Given the description of an element on the screen output the (x, y) to click on. 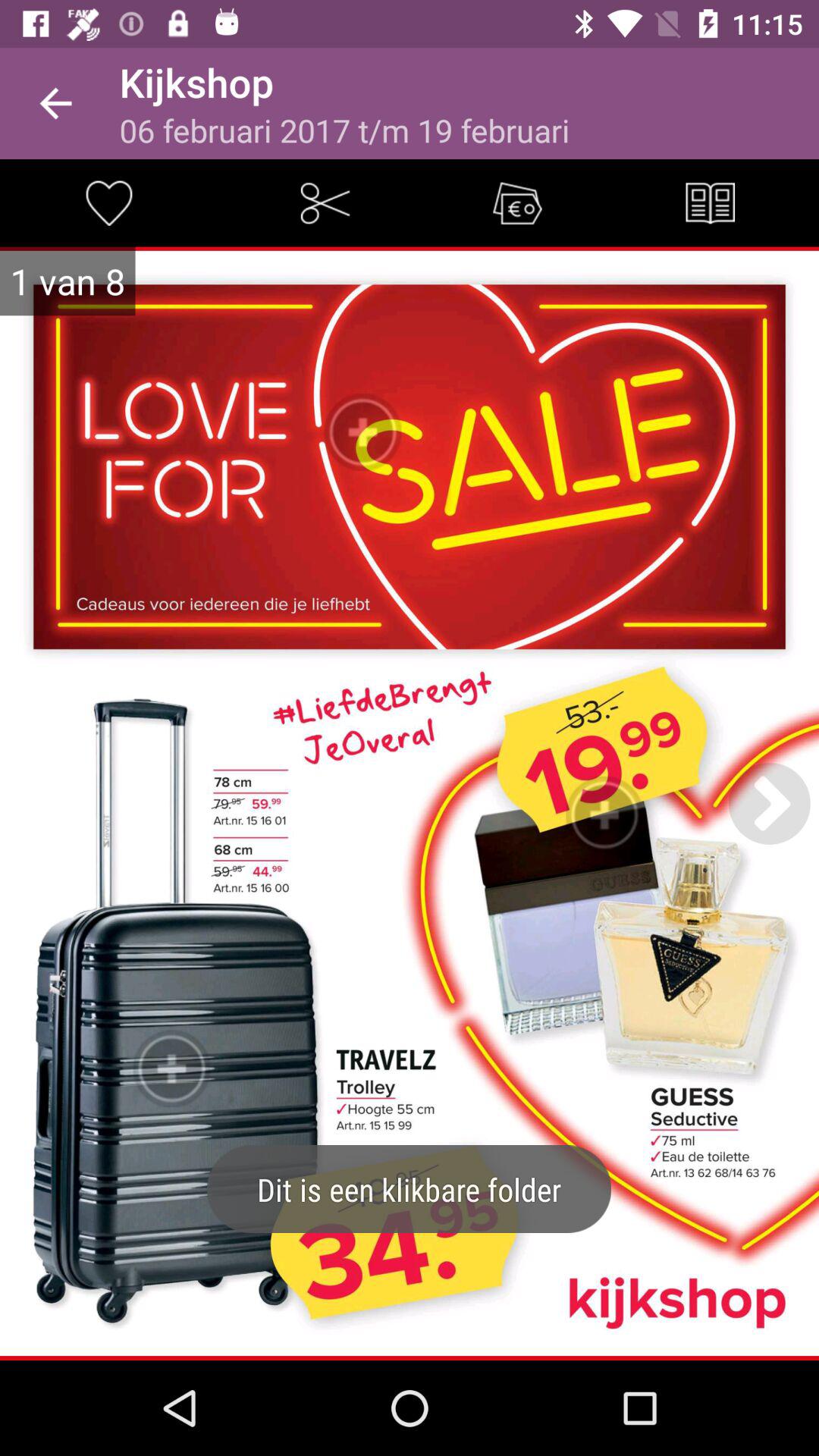
press the item below the 06 februari 2017 icon (324, 202)
